Given the description of an element on the screen output the (x, y) to click on. 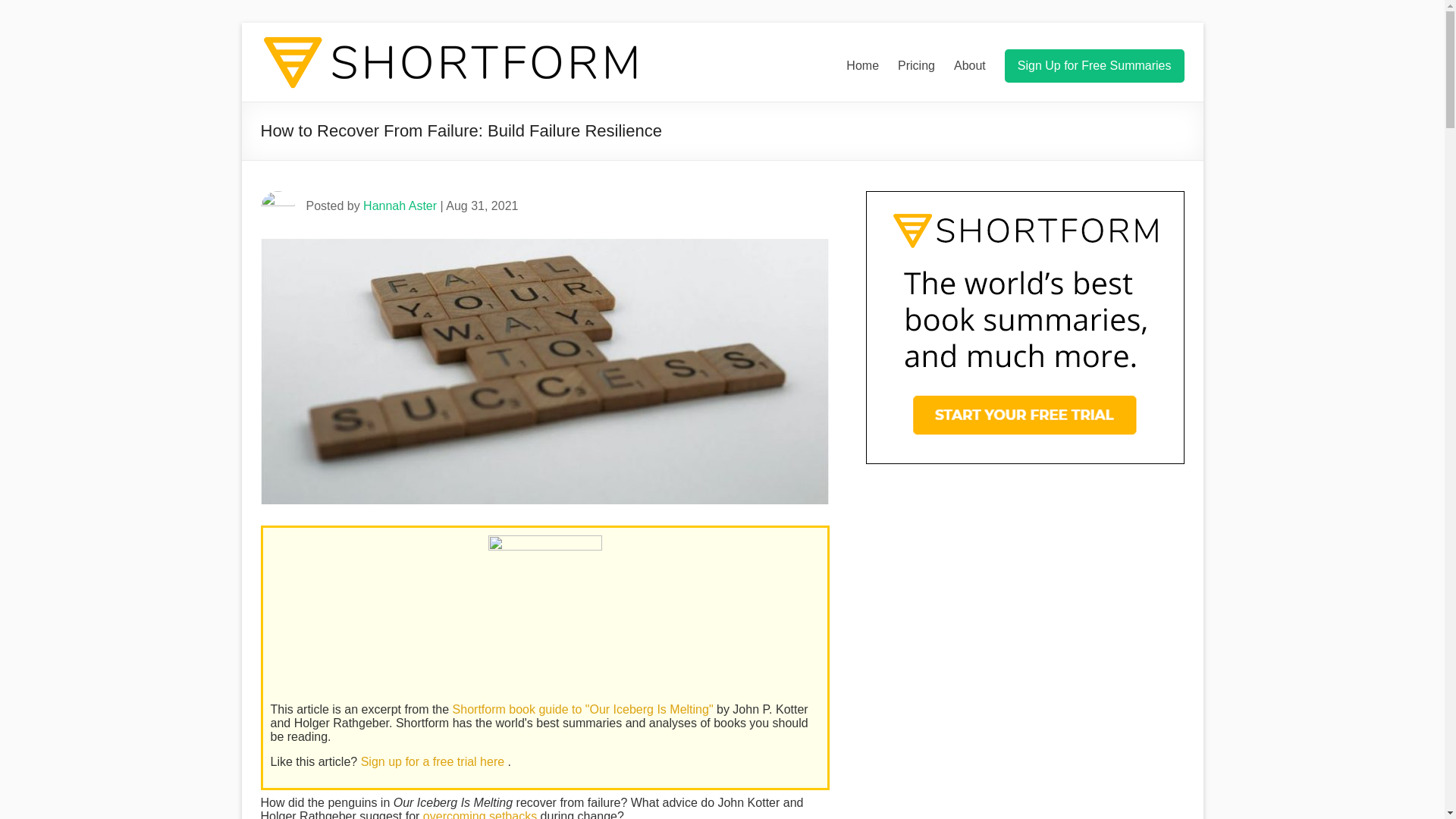
Pricing (916, 65)
Sign Up for Free Summaries (1094, 65)
overcoming setbacks (480, 814)
Home (862, 65)
About (969, 65)
Hannah Aster (399, 205)
Shortform book guide to "Our Iceberg Is Melting" (584, 708)
Sign up for a free trial here (434, 761)
